Given the description of an element on the screen output the (x, y) to click on. 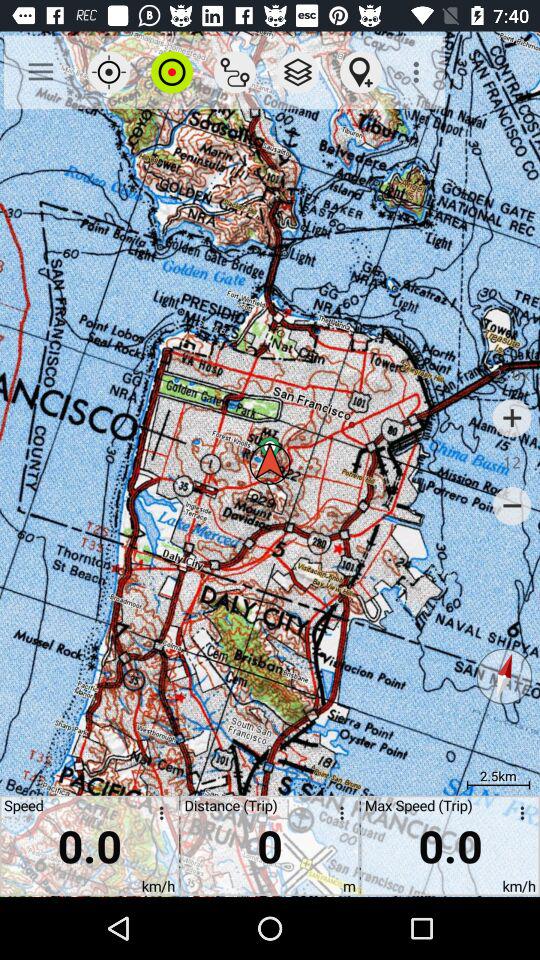
open speed setting (158, 816)
